Given the description of an element on the screen output the (x, y) to click on. 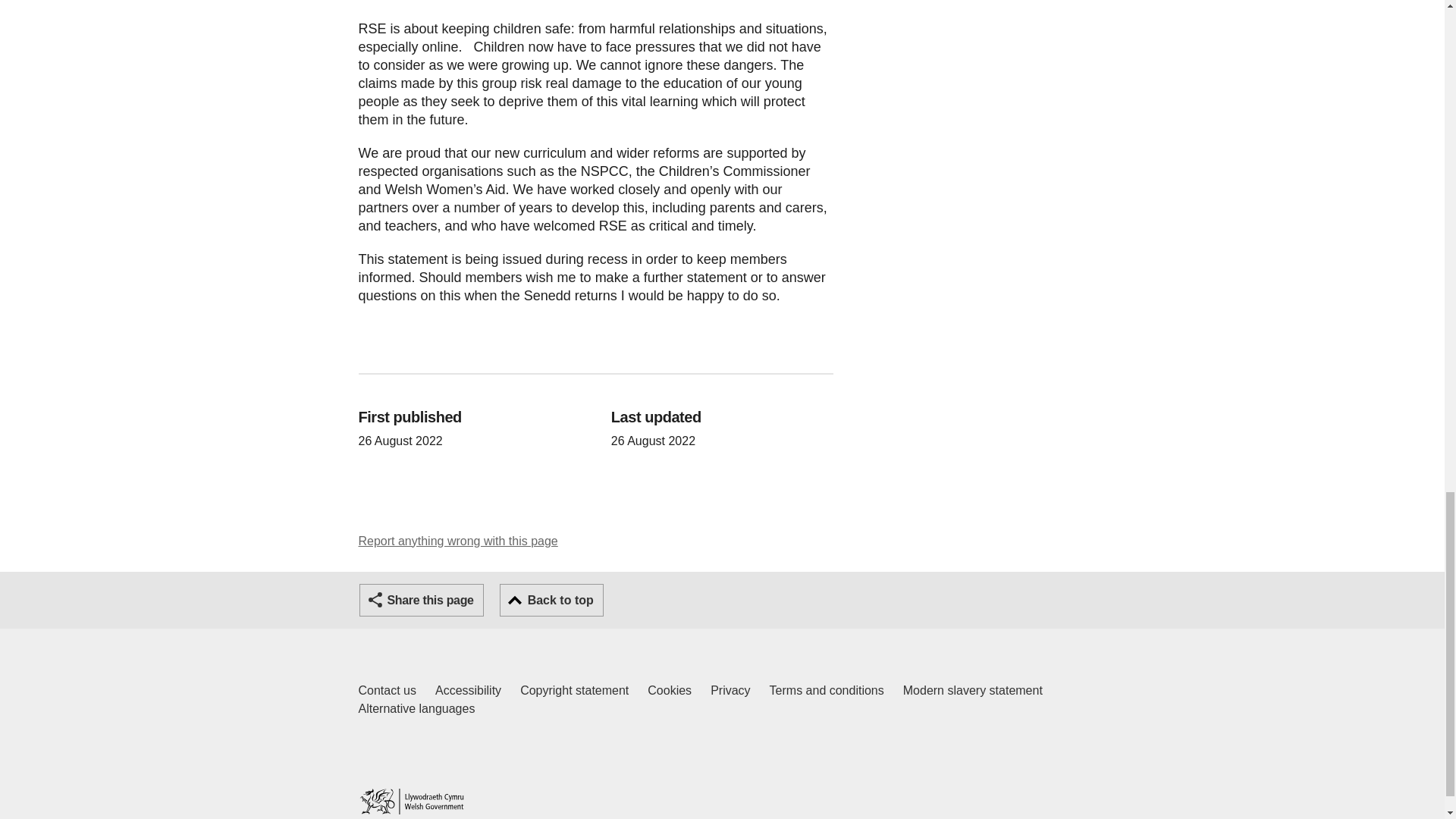
Copyright statement (573, 690)
Privacy (729, 690)
Accessibility (467, 690)
Terms and conditions (826, 690)
Report anything wrong with this page (457, 540)
Home (386, 690)
Modern slavery statement (411, 801)
Alternative languages (972, 690)
Cookies (416, 709)
Share this page (669, 690)
Back to top (421, 599)
